Given the description of an element on the screen output the (x, y) to click on. 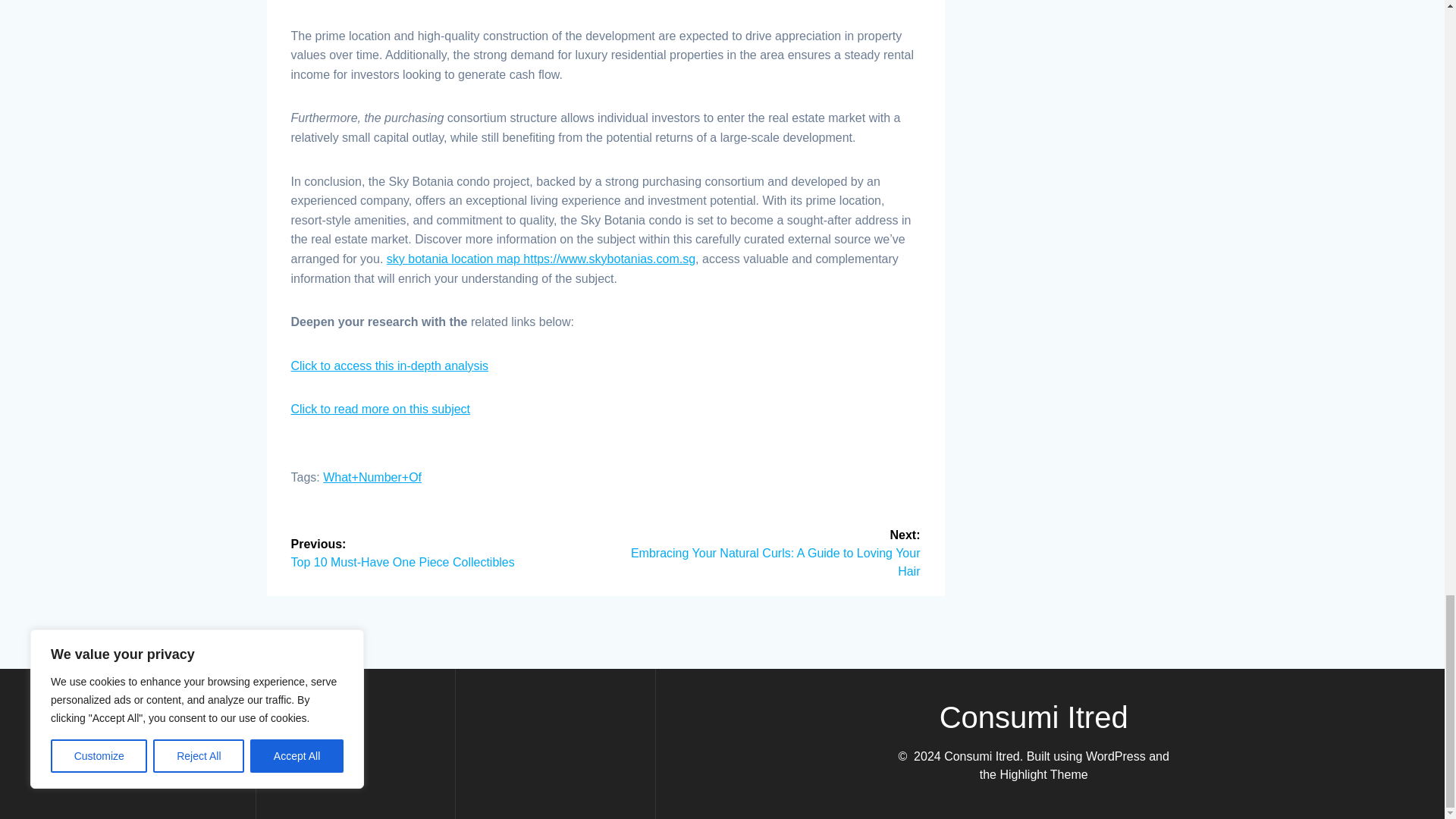
Click to access this in-depth analysis (390, 365)
Click to read more on this subject (380, 408)
